Given the description of an element on the screen output the (x, y) to click on. 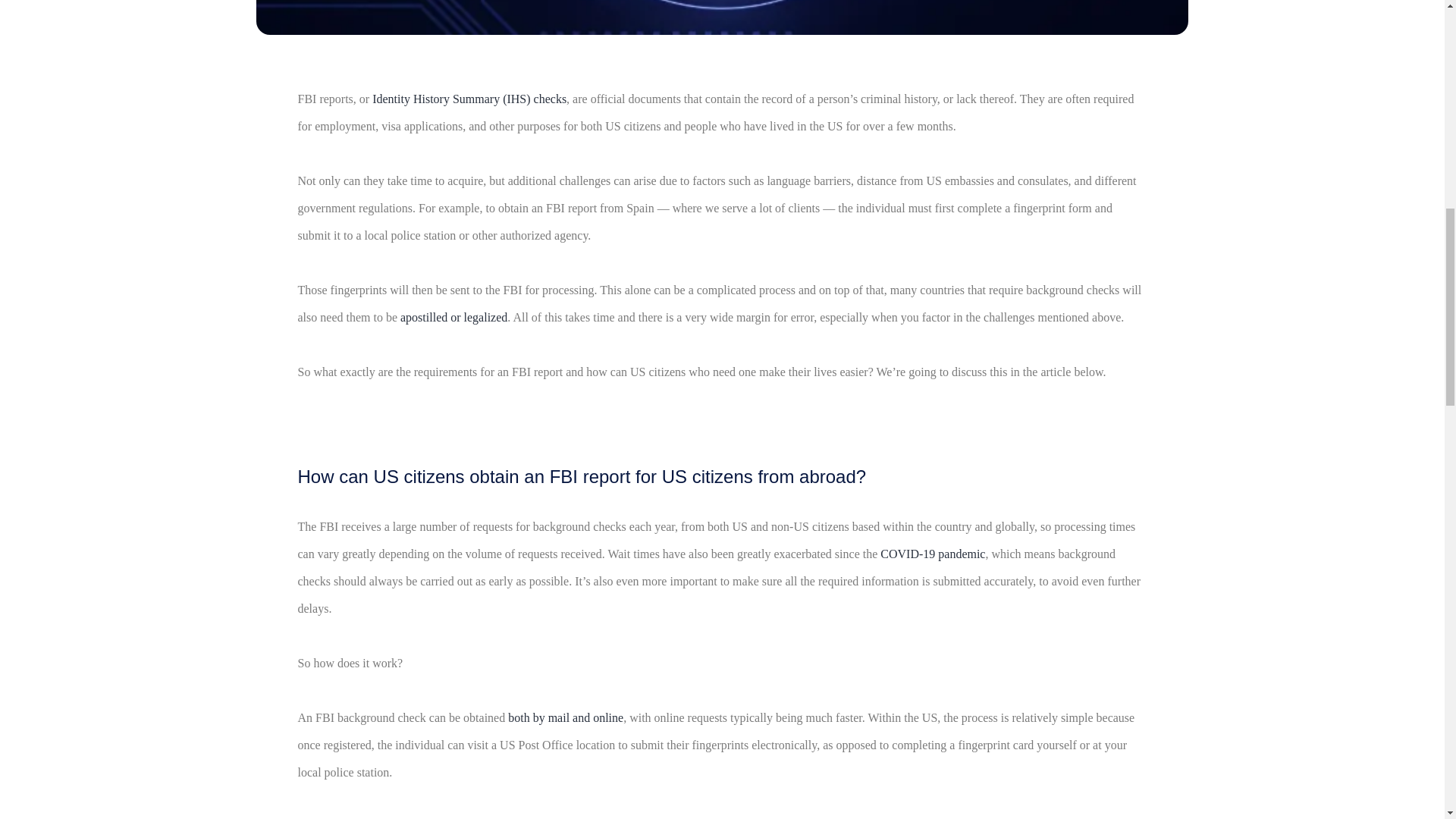
apostilled or legalized (453, 317)
both by mail and online (565, 717)
COVID-19 pandemic (932, 553)
